Given the description of an element on the screen output the (x, y) to click on. 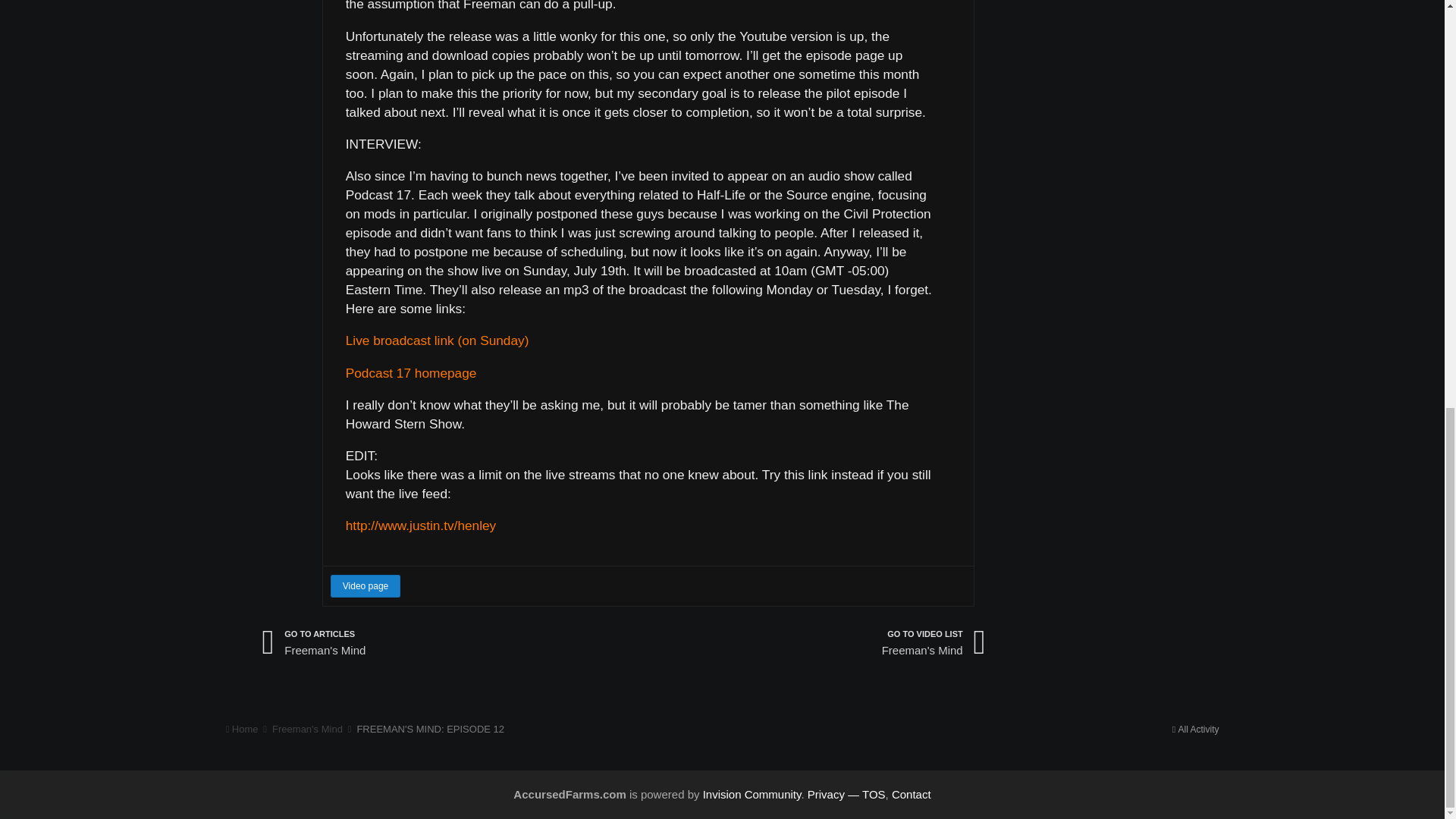
Go to video list (933, 643)
Podcast 17 homepage (411, 372)
Video page (313, 643)
Go to Freeman's Mind (365, 585)
View comments (313, 643)
